Given the description of an element on the screen output the (x, y) to click on. 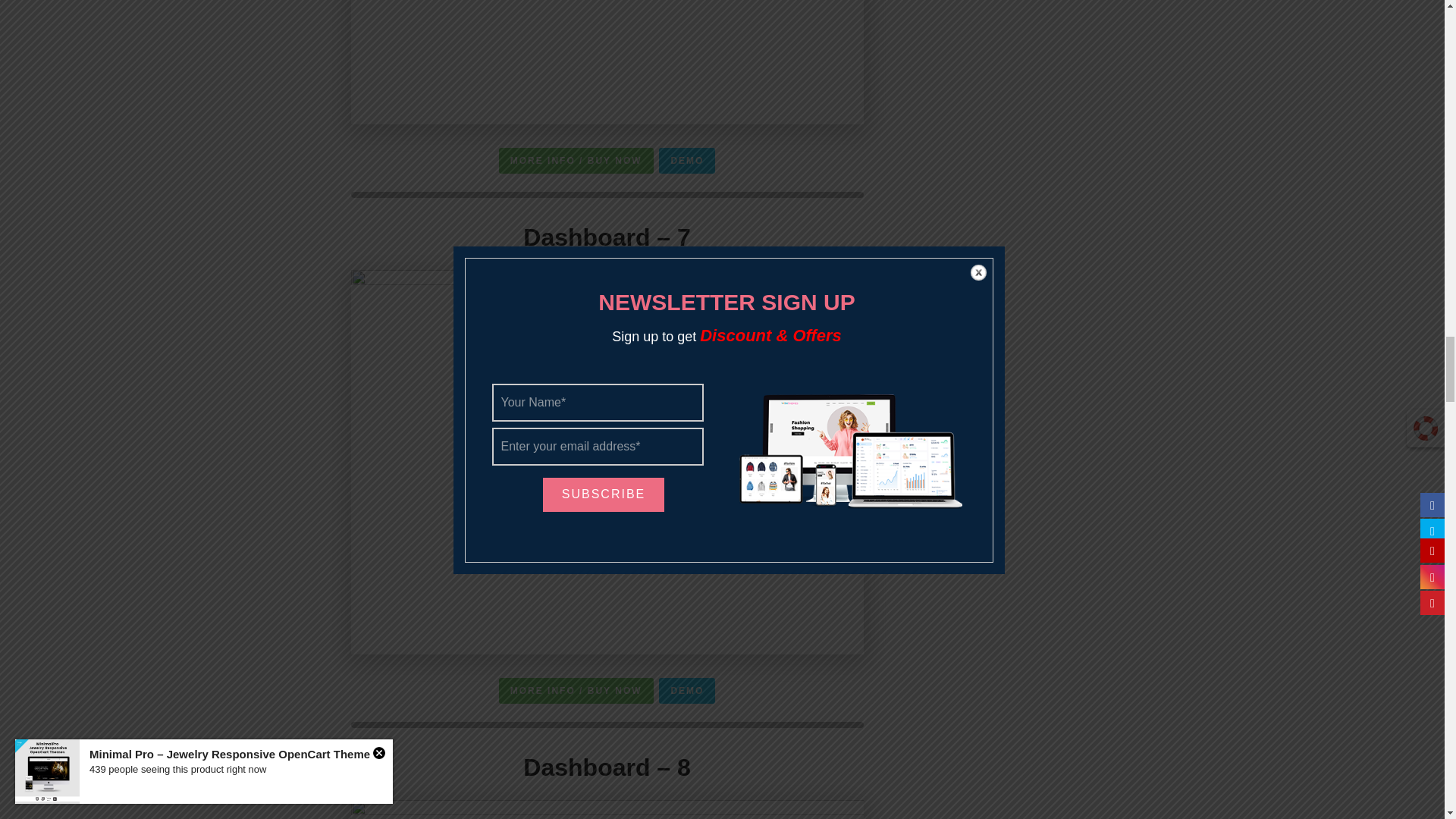
DEMO (686, 160)
